Given the description of an element on the screen output the (x, y) to click on. 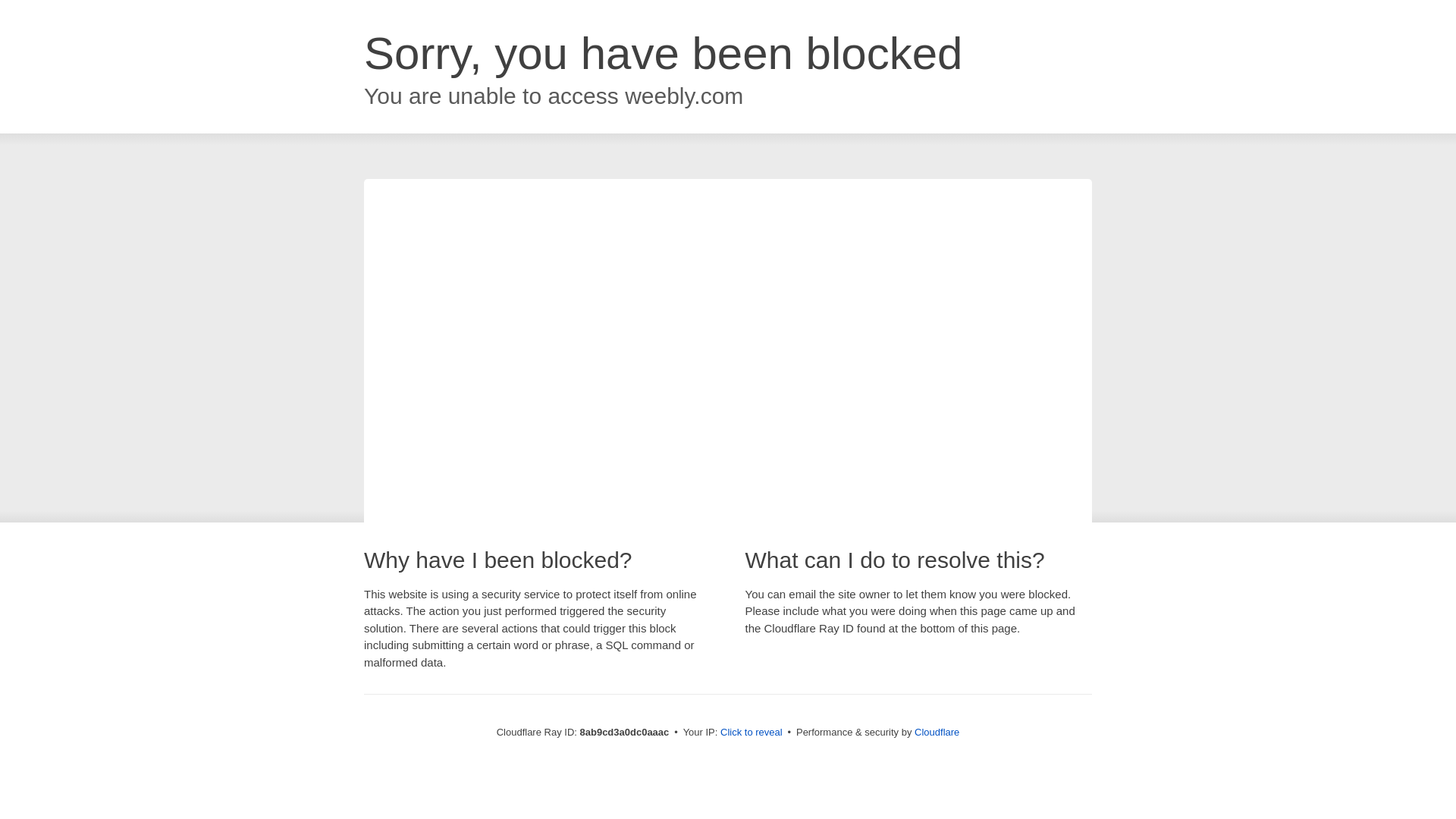
Cloudflare (936, 731)
Click to reveal (751, 732)
